Given the description of an element on the screen output the (x, y) to click on. 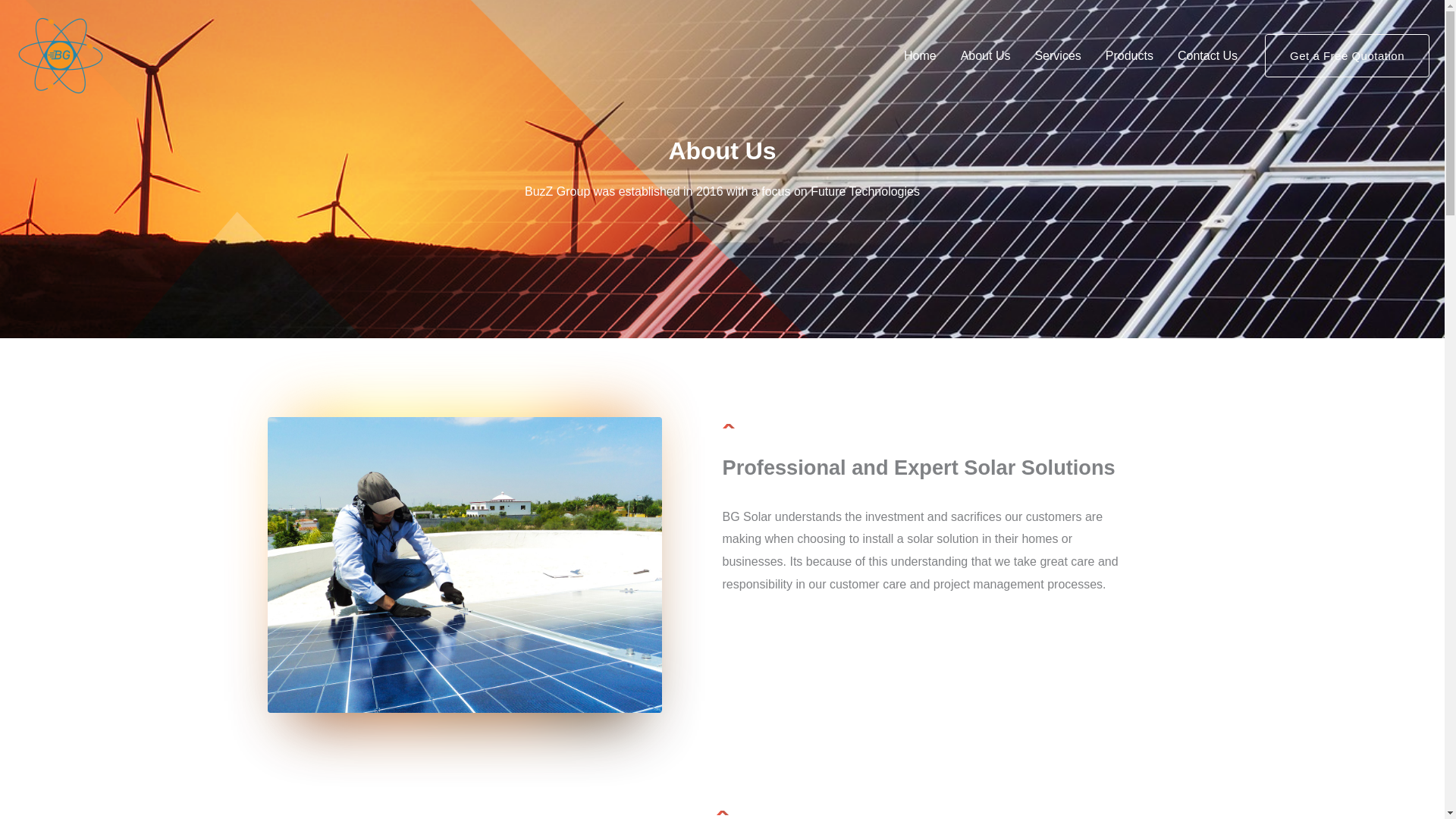
Services (1057, 54)
Home (920, 54)
About Us (986, 54)
Contact Us (1207, 54)
Get a Free Quotation (1347, 55)
Products (1129, 54)
